Given the description of an element on the screen output the (x, y) to click on. 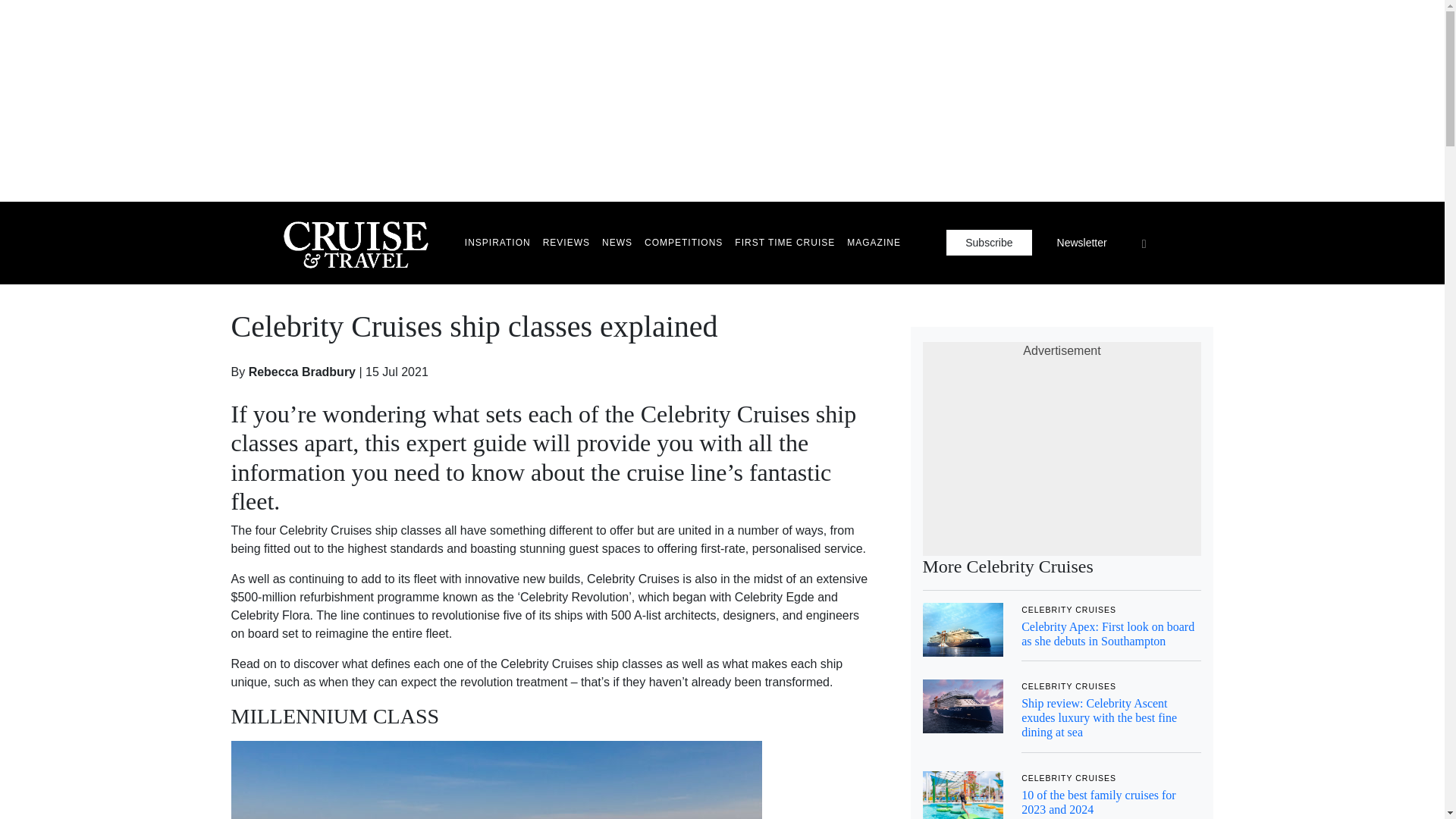
INSPIRATION (497, 242)
FIRST TIME CRUISE (785, 242)
COMPETITIONS (684, 242)
NEWS (617, 242)
Subscribe (988, 242)
REVIEWS (566, 242)
MAGAZINE (874, 242)
Newsletter (1081, 242)
